Given the description of an element on the screen output the (x, y) to click on. 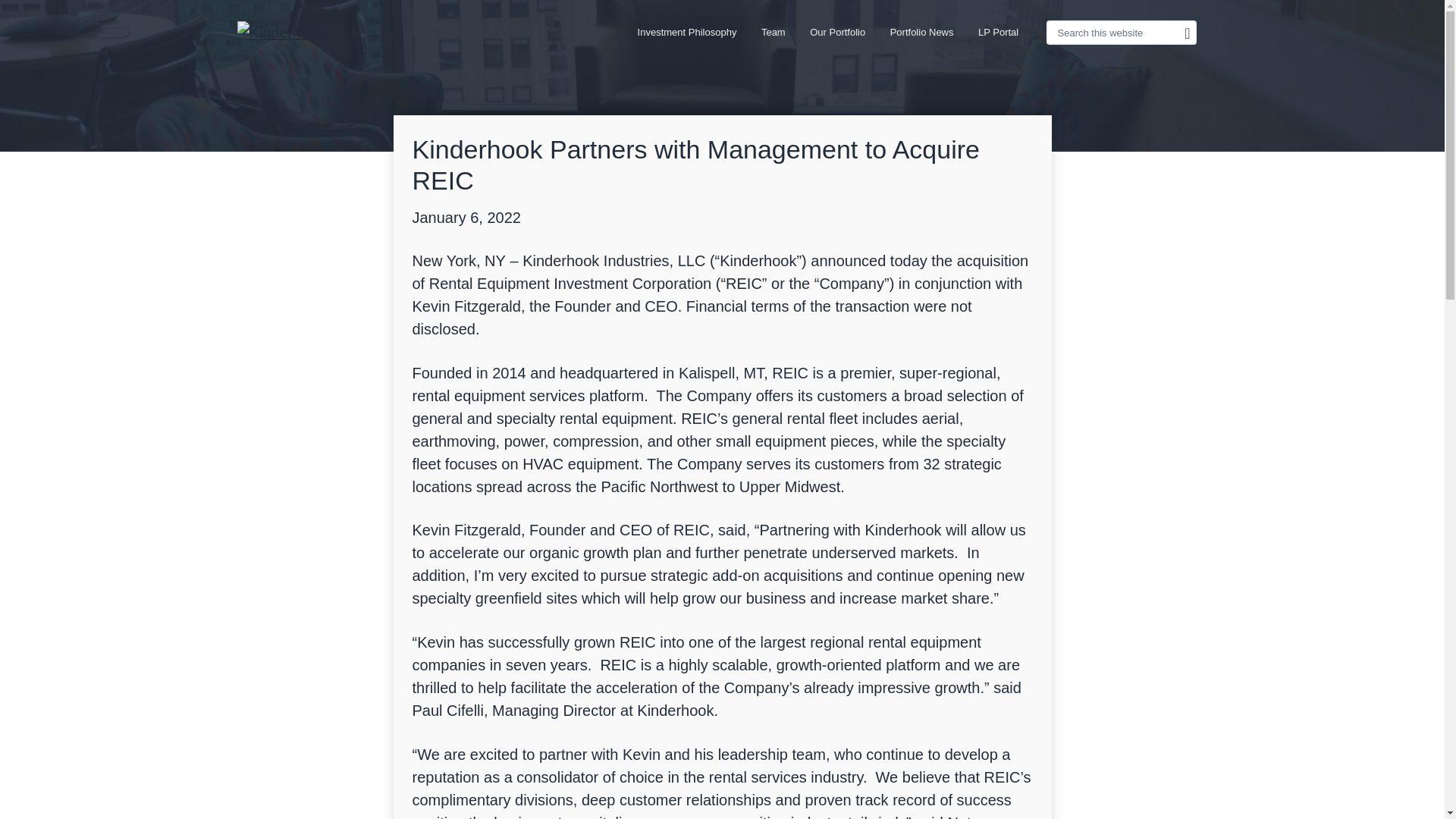
LP Portal (998, 31)
Search (43, 19)
Investment Philosophy (686, 31)
Portfolio News (921, 31)
Team (773, 31)
Our Portfolio (837, 31)
